Given the description of an element on the screen output the (x, y) to click on. 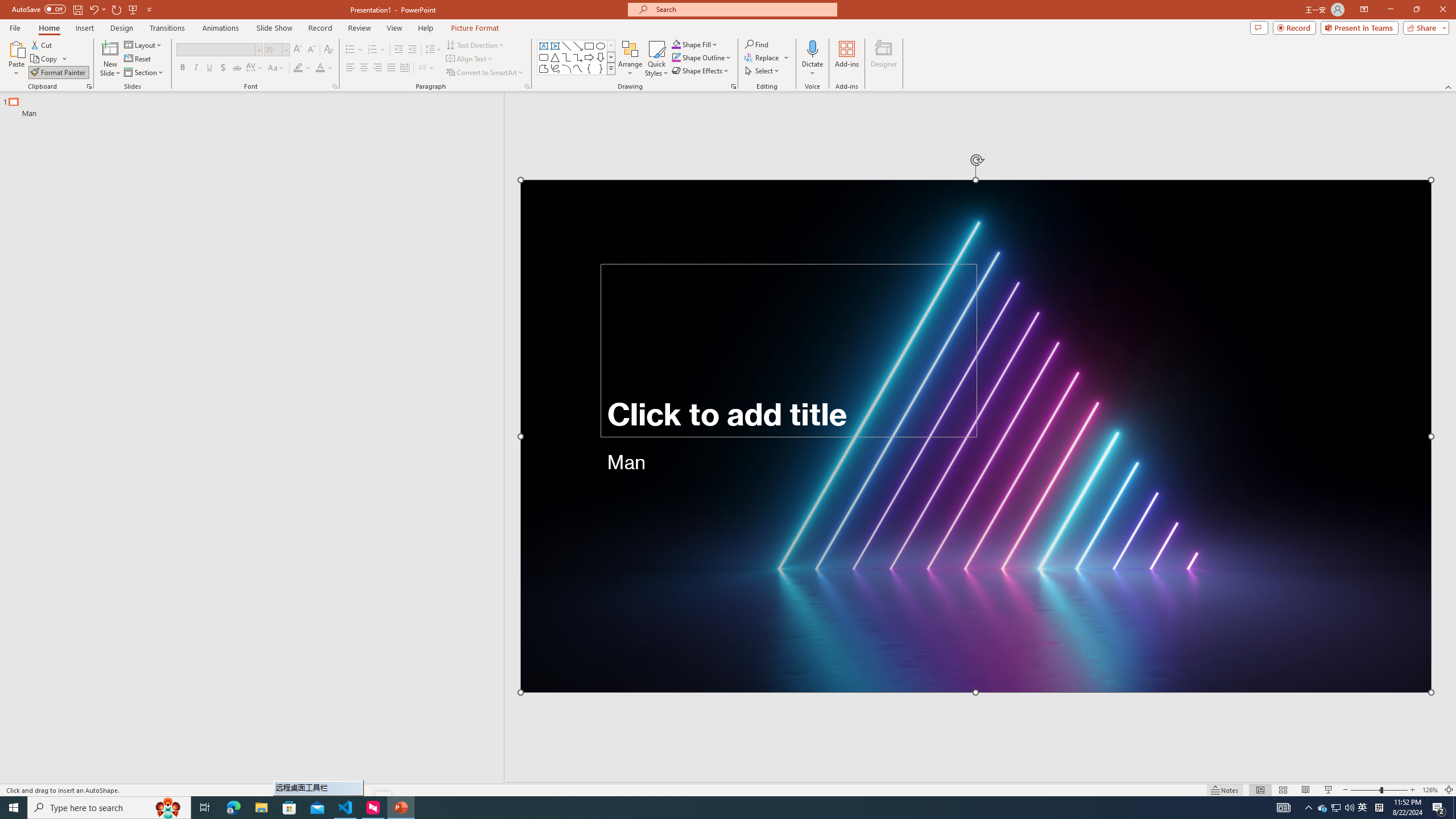
Reset (138, 58)
AutomationID: ShapesInsertGallery (576, 57)
Clear Formatting (327, 49)
Paste (16, 58)
Row Down (611, 56)
Italic (195, 67)
